Given the description of an element on the screen output the (x, y) to click on. 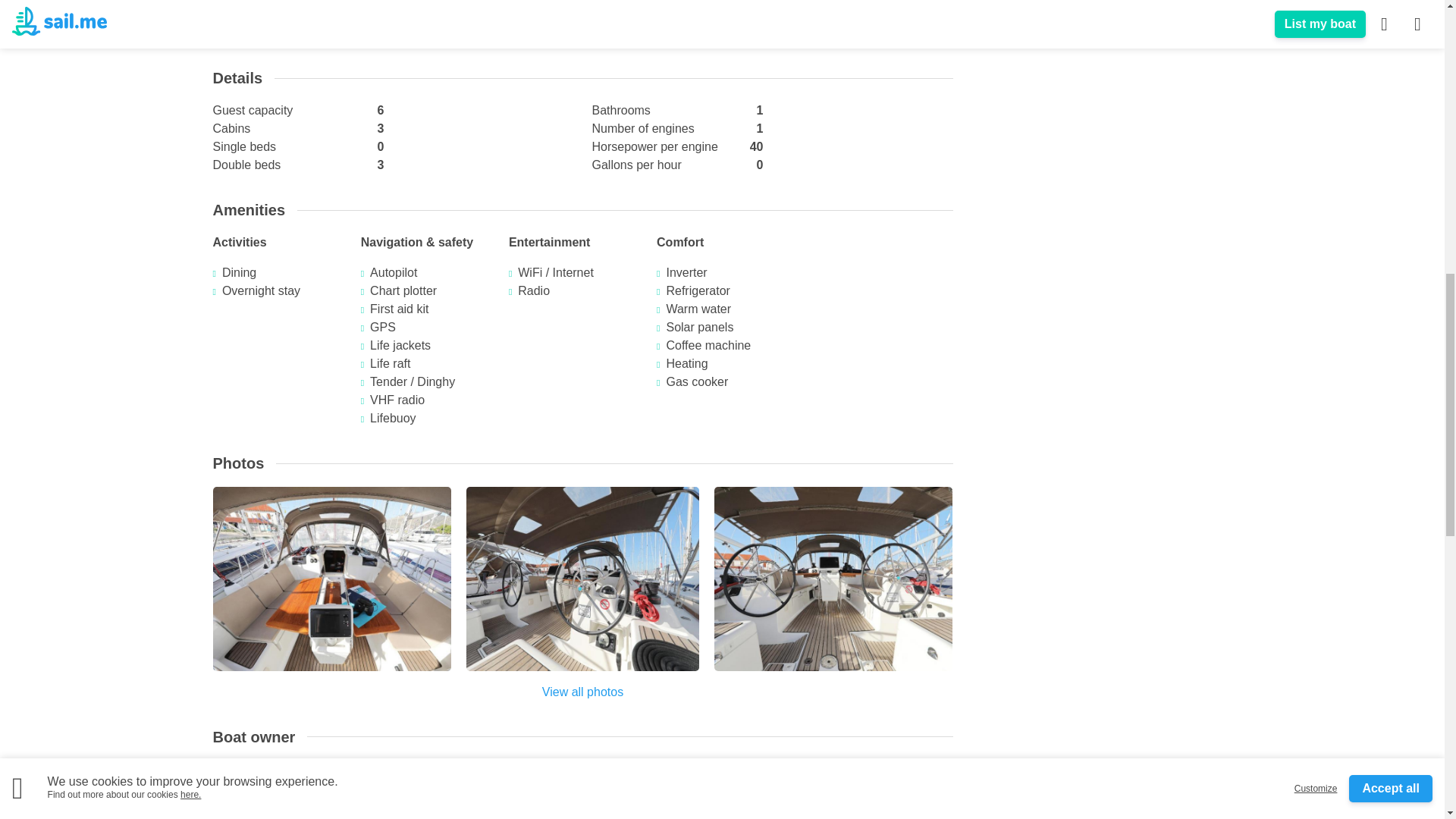
Click to visit Lorena (236, 784)
